Given the description of an element on the screen output the (x, y) to click on. 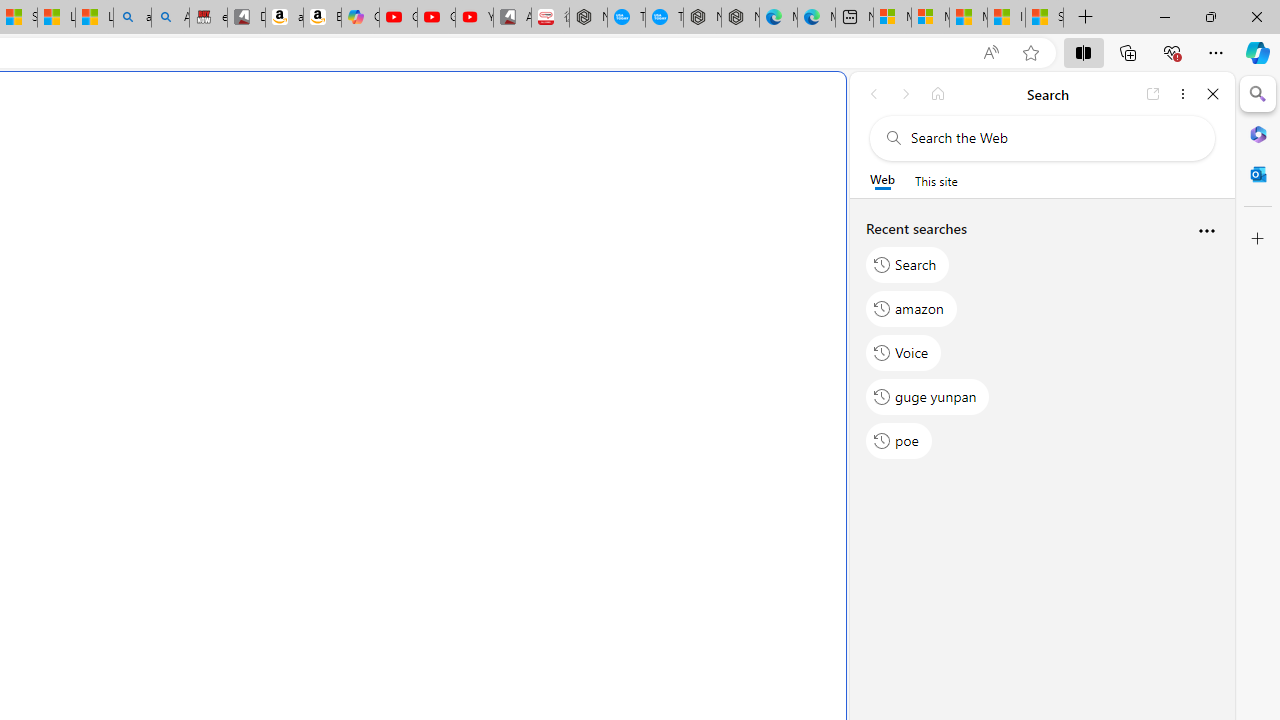
Nordace - My Account (587, 17)
Recent searchesSearchamazonVoiceguge yunpanpoe (1042, 342)
amazon.in/dp/B0CX59H5W7/?tag=gsmcom05-21 (284, 17)
Amazon Echo Dot PNG - Search Images (170, 17)
Microsoft 365 (1258, 133)
I Gained 20 Pounds of Muscle in 30 Days! | Watch (1006, 17)
Outlook (1258, 174)
